Given the description of an element on the screen output the (x, y) to click on. 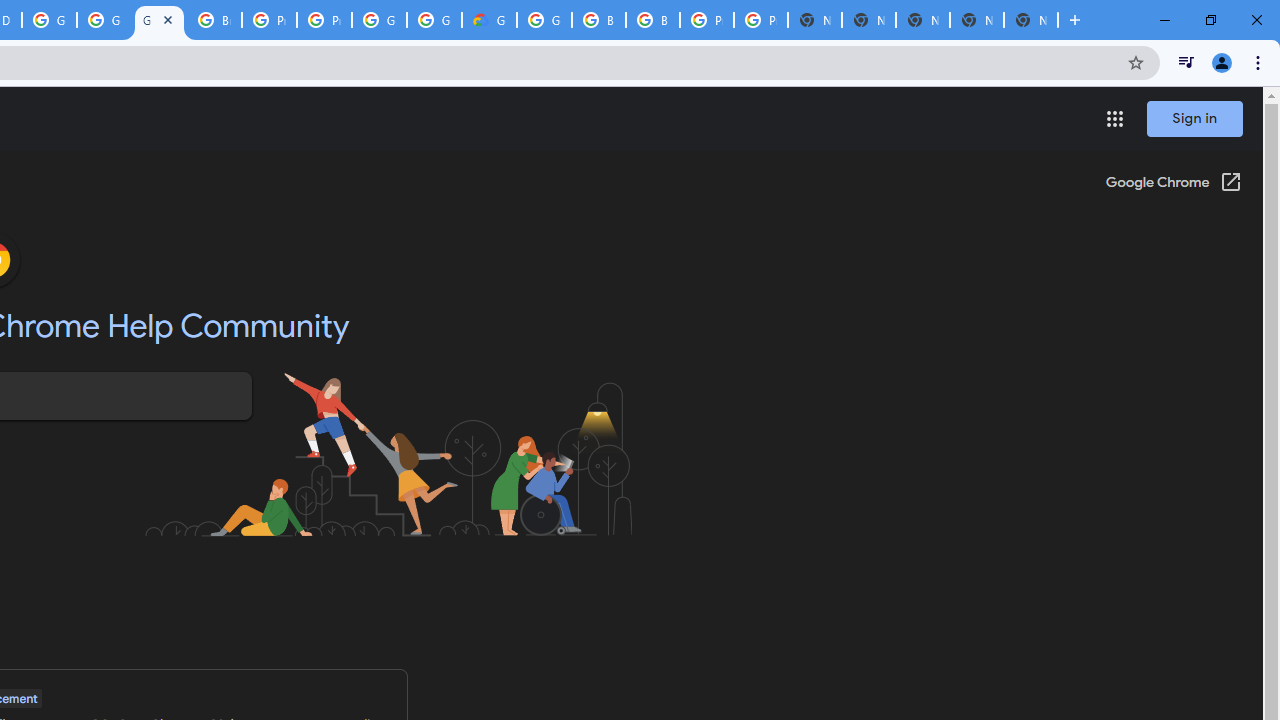
Google Cloud Platform (48, 20)
Google Cloud Platform (379, 20)
Minimize (1165, 20)
Google Chrome Community (158, 20)
Restore (1210, 20)
Sign in (1194, 118)
Google Cloud Platform (544, 20)
Google Cloud Platform (434, 20)
Control your music, videos, and more (1185, 62)
Browse Chrome as a guest - Computer - Google Chrome Help (213, 20)
Google Chrome (Open in a new window) (1173, 183)
